Given the description of an element on the screen output the (x, y) to click on. 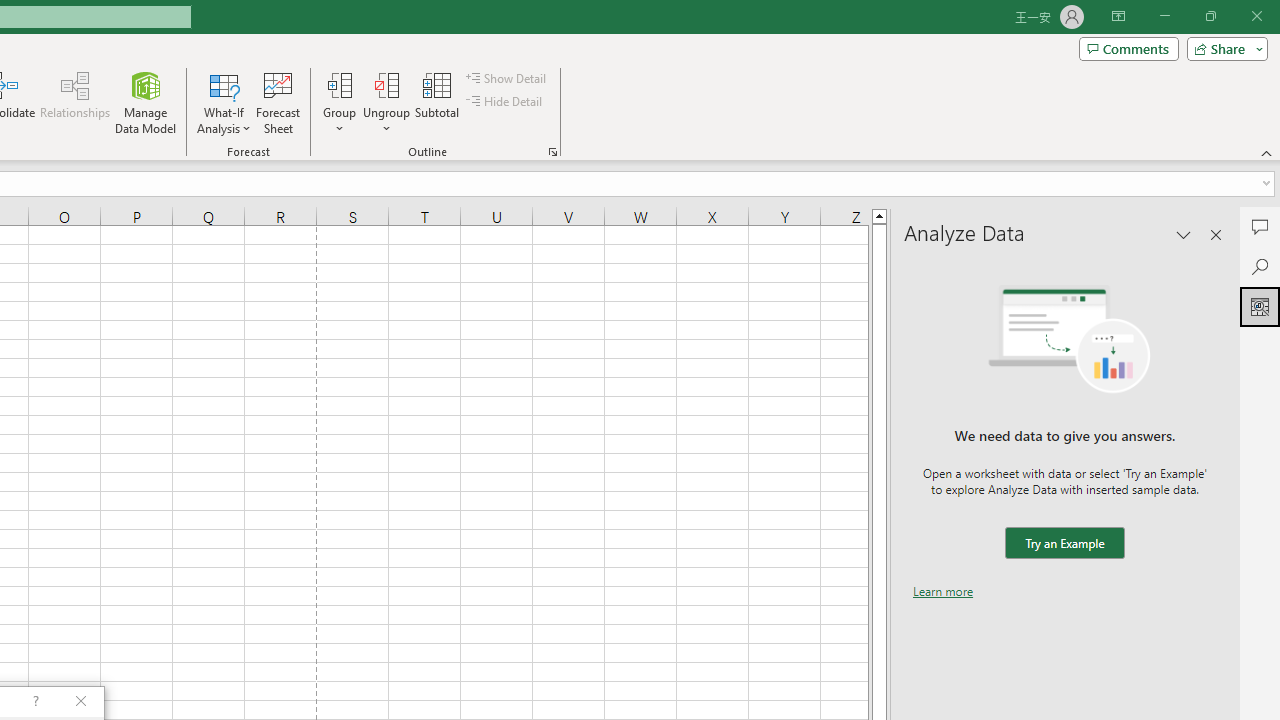
Restore Down (1210, 16)
Group... (339, 84)
Task Pane Options (1183, 234)
Close pane (1215, 234)
Subtotal (437, 102)
Show Detail (507, 78)
Analyze Data (1260, 306)
Group and Outline Settings (552, 151)
Relationships (75, 102)
Group... (339, 102)
What-If Analysis (223, 102)
We need data to give you answers. Try an Example (1064, 543)
